Given the description of an element on the screen output the (x, y) to click on. 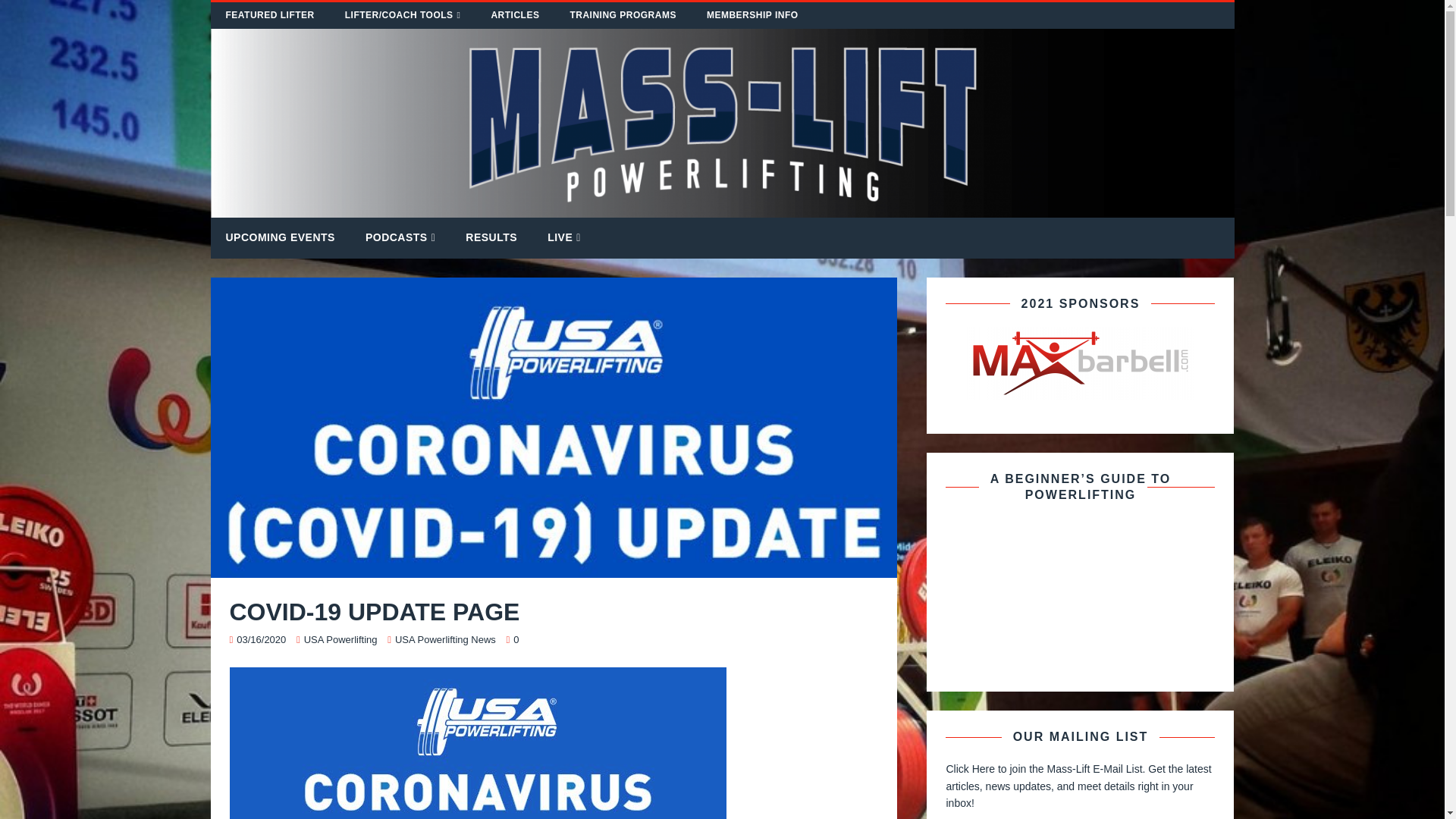
FEATURED LIFTER (270, 15)
TRAINING PROGRAMS (622, 15)
ARTICLES (515, 15)
Mass-Lift Powerlifting (722, 209)
MEMBERSHIP INFO (752, 15)
PODCASTS (399, 237)
UPCOMING EVENTS (280, 237)
2020 Sponsors (1079, 362)
